Given the description of an element on the screen output the (x, y) to click on. 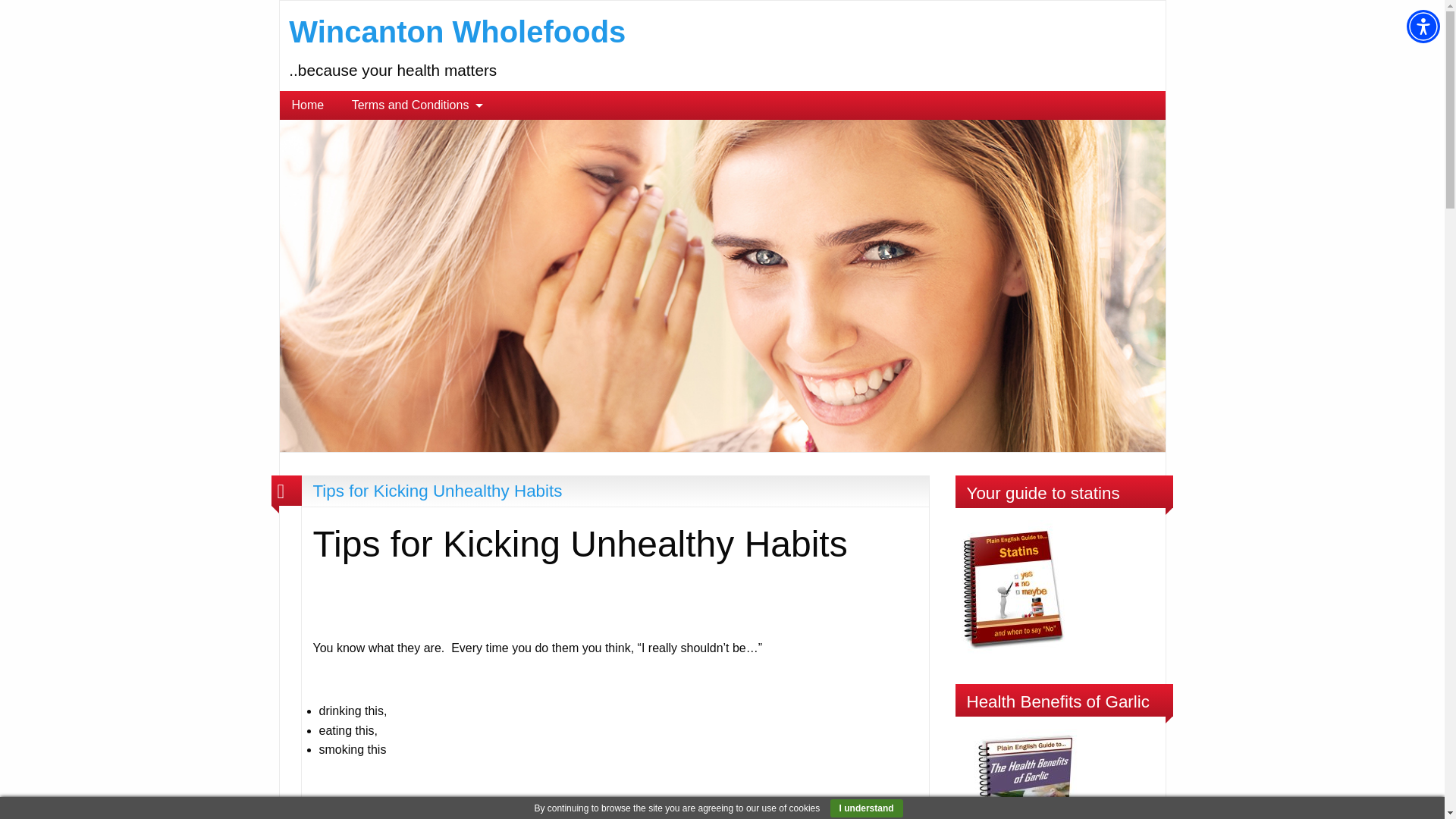
Wincanton Wholefoods (457, 31)
Tips for Kicking Unhealthy Habits (437, 490)
I understand (865, 808)
Home (307, 104)
Terms and Conditions (413, 104)
Wincanton Wholefoods (721, 284)
Accessibility Menu (1422, 26)
